Given the description of an element on the screen output the (x, y) to click on. 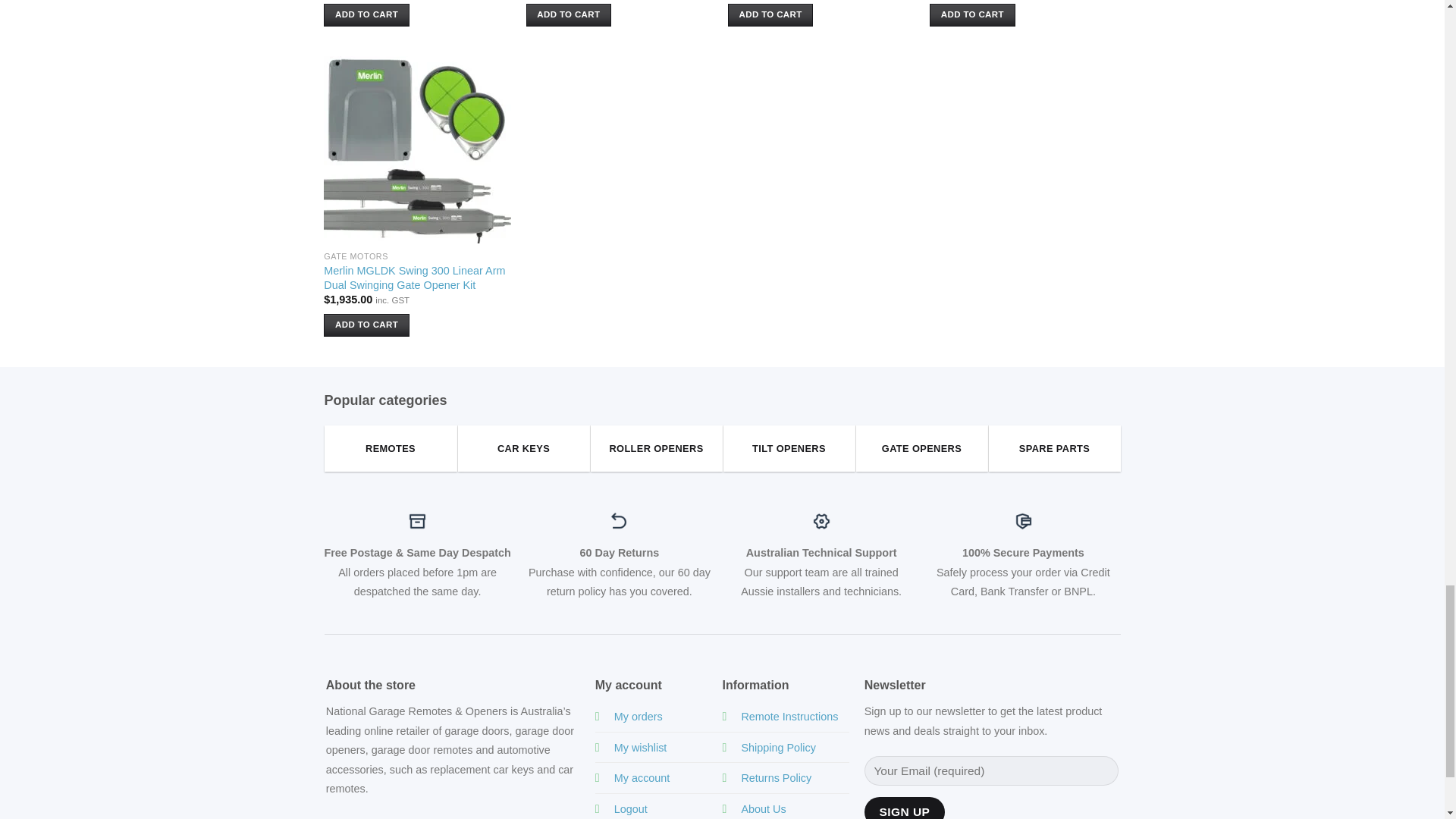
Sign Up (904, 807)
